Given the description of an element on the screen output the (x, y) to click on. 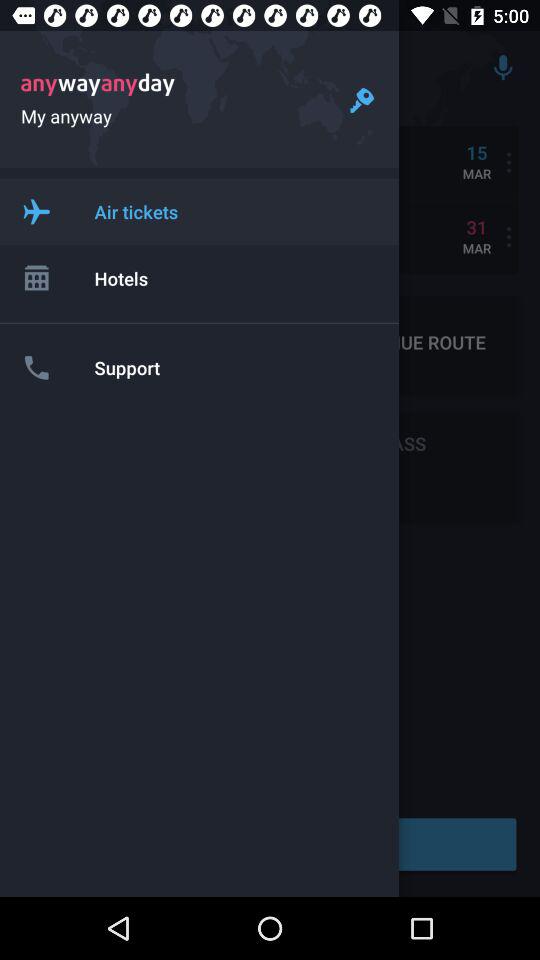
select call icon on the page (36, 368)
select the text which is immediately below hotels (144, 342)
click the  left side  flight button (36, 211)
